Given the description of an element on the screen output the (x, y) to click on. 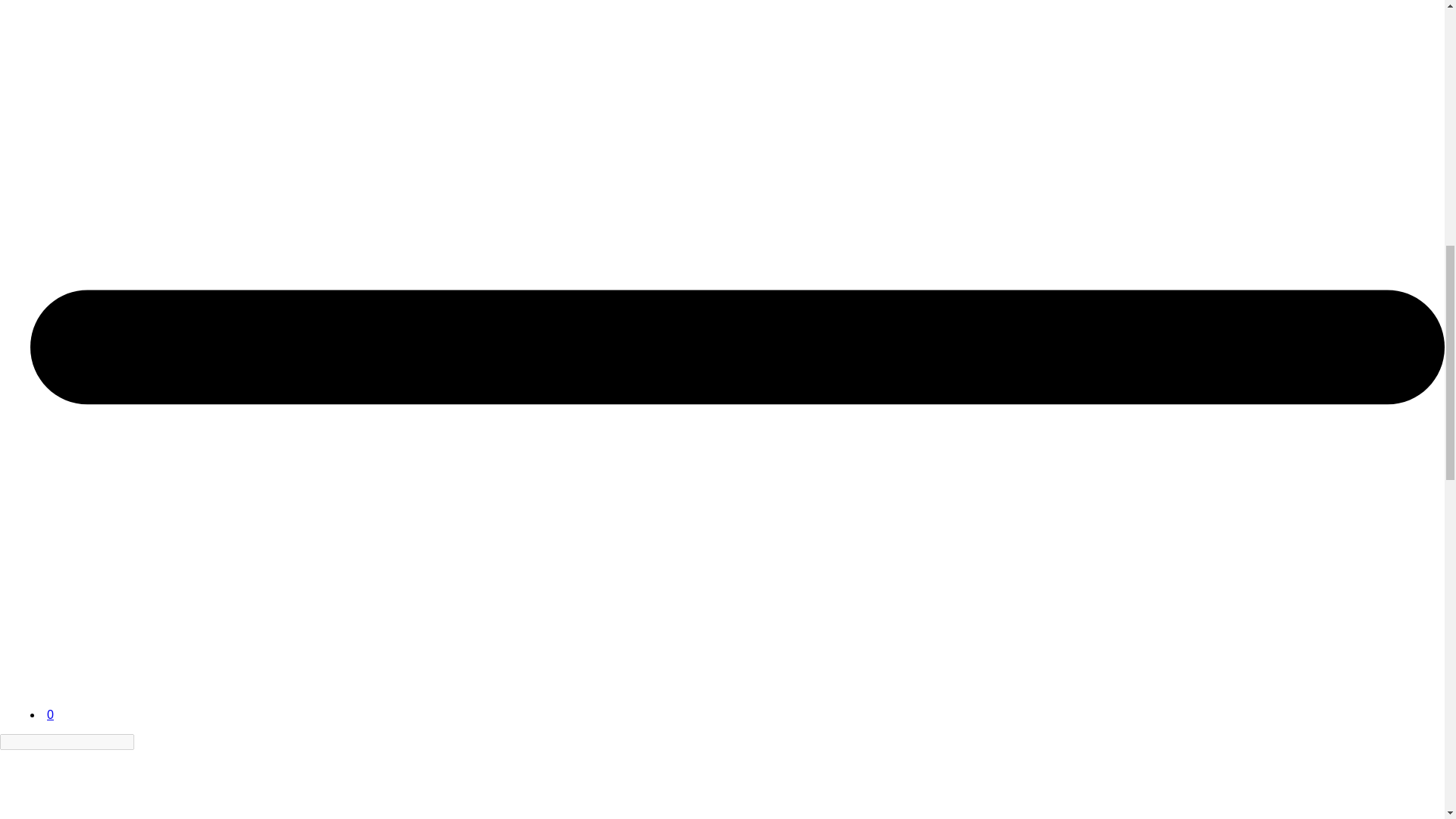
Wine Shop (87, 700)
Find (142, 741)
Wine Shop (56, 784)
Wine Shop (87, 664)
